Given the description of an element on the screen output the (x, y) to click on. 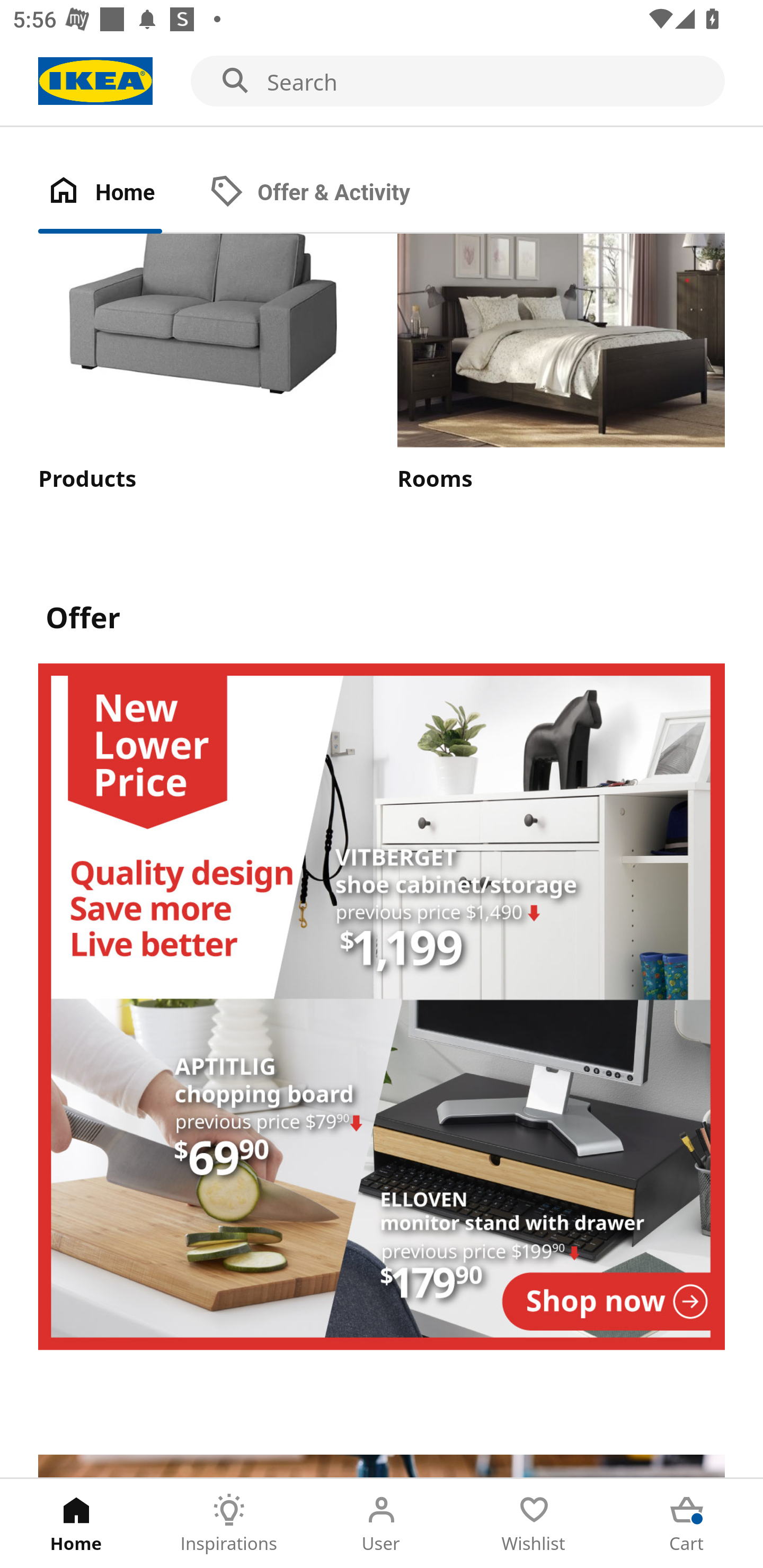
Search (381, 81)
Home
Tab 1 of 2 (118, 192)
Offer & Activity
Tab 2 of 2 (327, 192)
Products (201, 364)
Rooms (560, 364)
Home
Tab 1 of 5 (76, 1522)
Inspirations
Tab 2 of 5 (228, 1522)
User
Tab 3 of 5 (381, 1522)
Wishlist
Tab 4 of 5 (533, 1522)
Cart
Tab 5 of 5 (686, 1522)
